Given the description of an element on the screen output the (x, y) to click on. 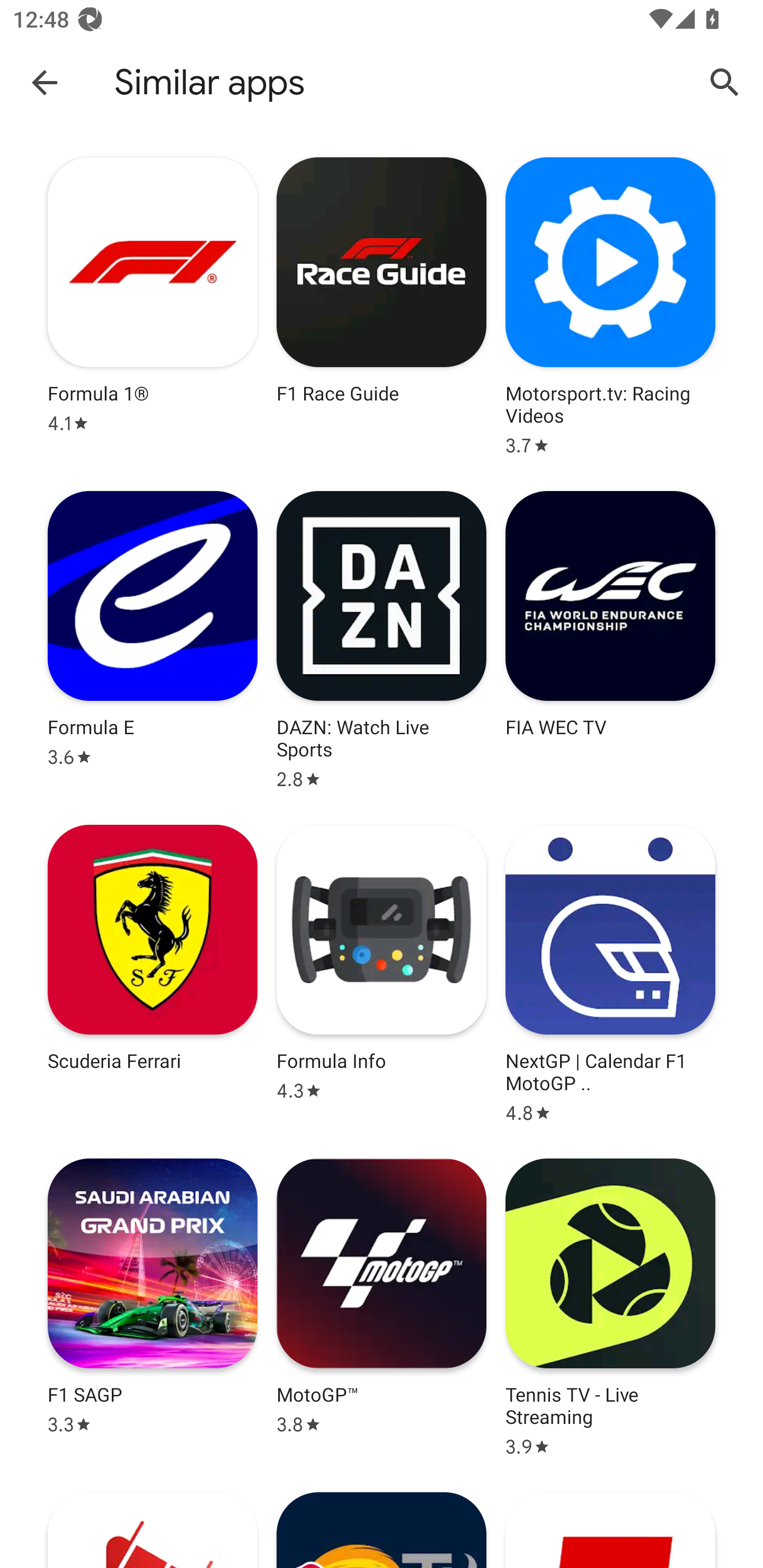
Navigate up (44, 81)
Search Google Play (724, 81)
App: Formula 1®
Star rating: 4.1


 (152, 306)
App: F1 Race Guide


 (381, 306)
App: Formula E
Star rating: 3.6


 (152, 640)
App: DAZN: Watch Live Sports
Star rating: 2.8


 (381, 640)
App: FIA WEC TV


 (609, 640)
App: Scuderia Ferrari


 (152, 974)
App: Formula Info
Star rating: 4.3


 (381, 974)
App: F1 SAGP
Star rating: 3.3


 (152, 1307)
App: MotoGP™
Star rating: 3.8


 (381, 1307)
